Given the description of an element on the screen output the (x, y) to click on. 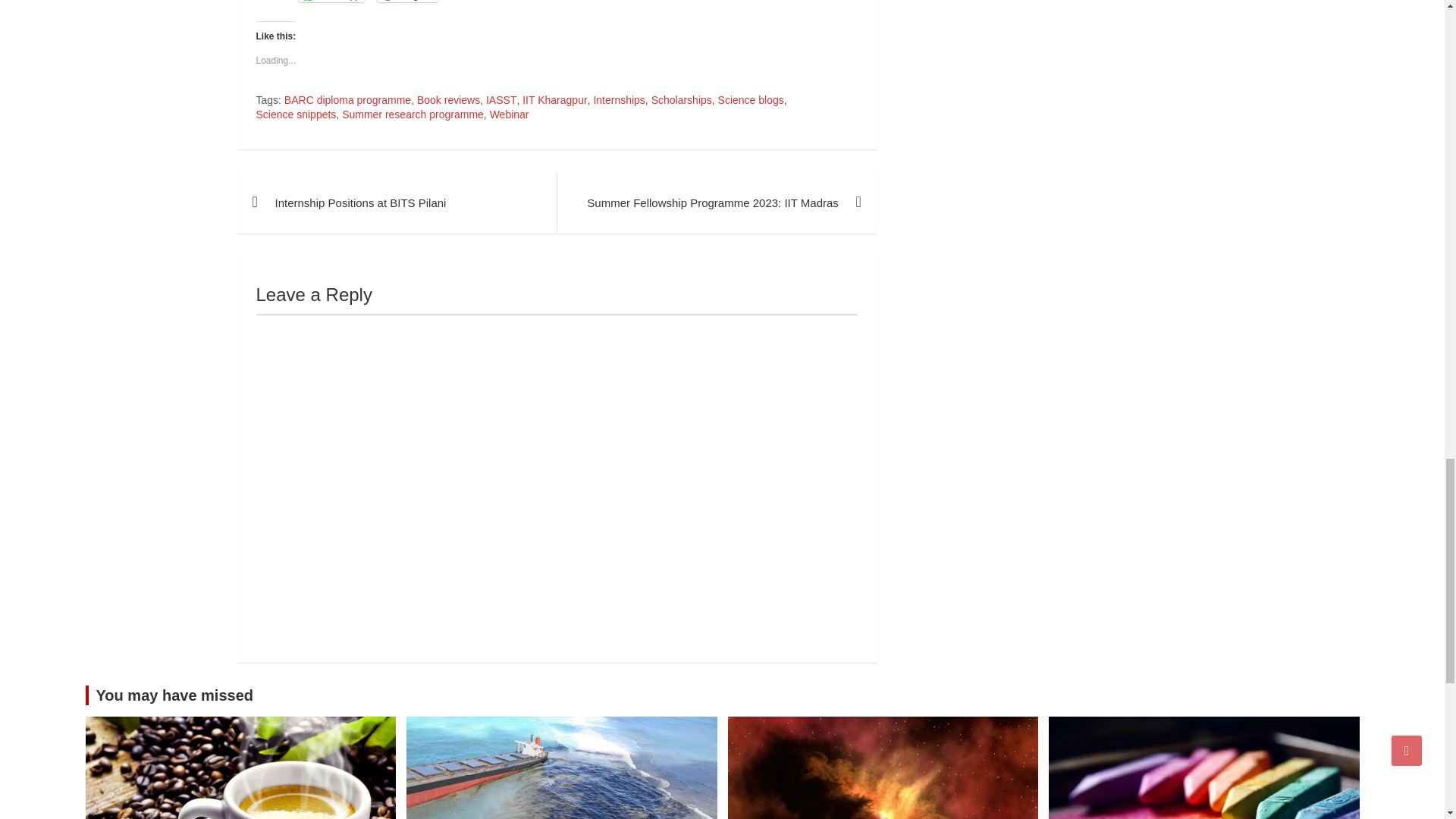
Internships (618, 100)
Internship Positions at BITS Pilani (395, 202)
WhatsApp (331, 1)
Click to share on Telegram (407, 1)
Scholarships (680, 100)
BARC diploma programme (346, 100)
Summer research programme (412, 114)
IIT Kharagpur (554, 100)
Webinar (509, 114)
